Given the description of an element on the screen output the (x, y) to click on. 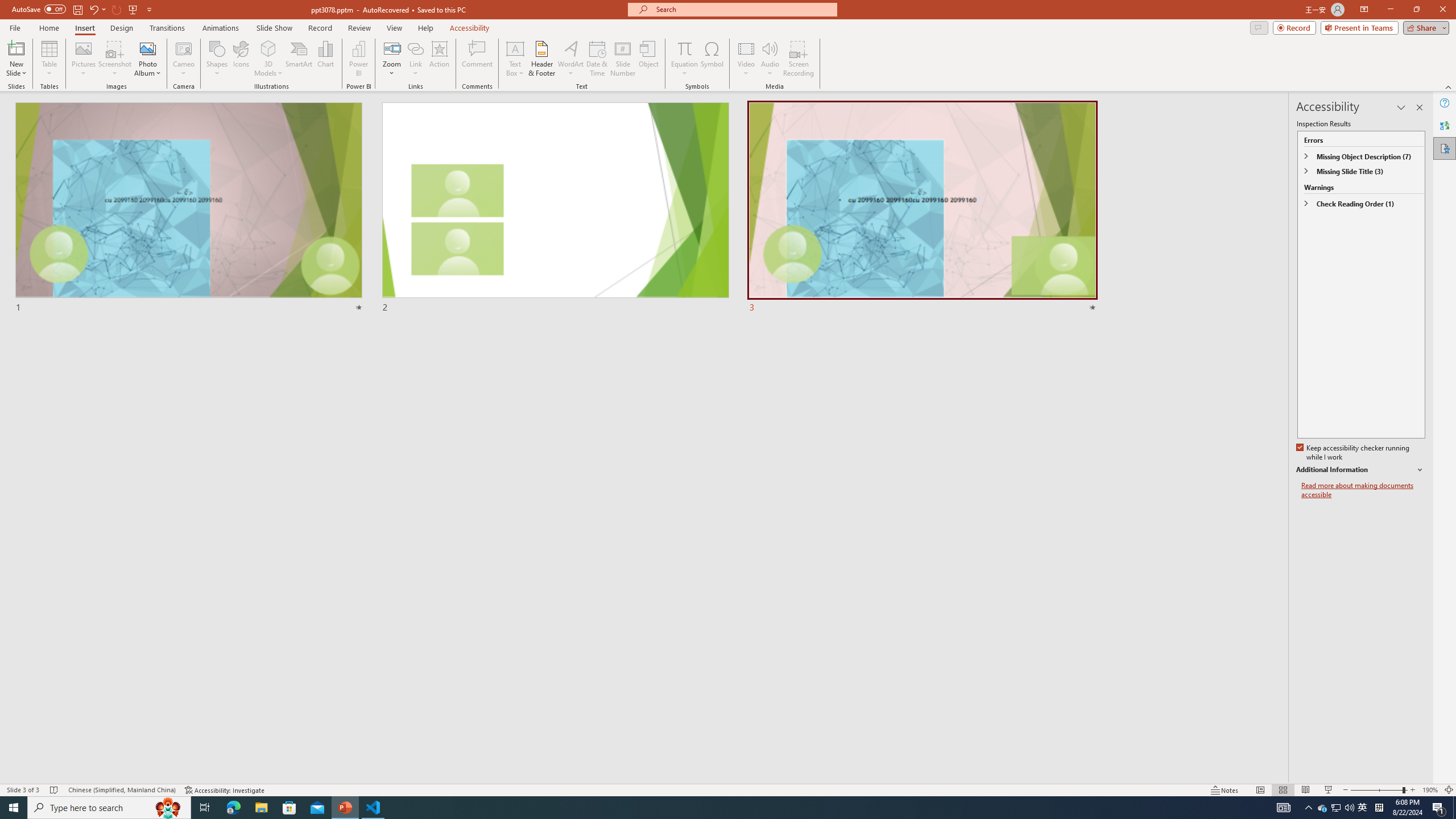
New Photo Album... (147, 48)
Date & Time... (596, 58)
Object... (649, 58)
Icons (240, 58)
